Given the description of an element on the screen output the (x, y) to click on. 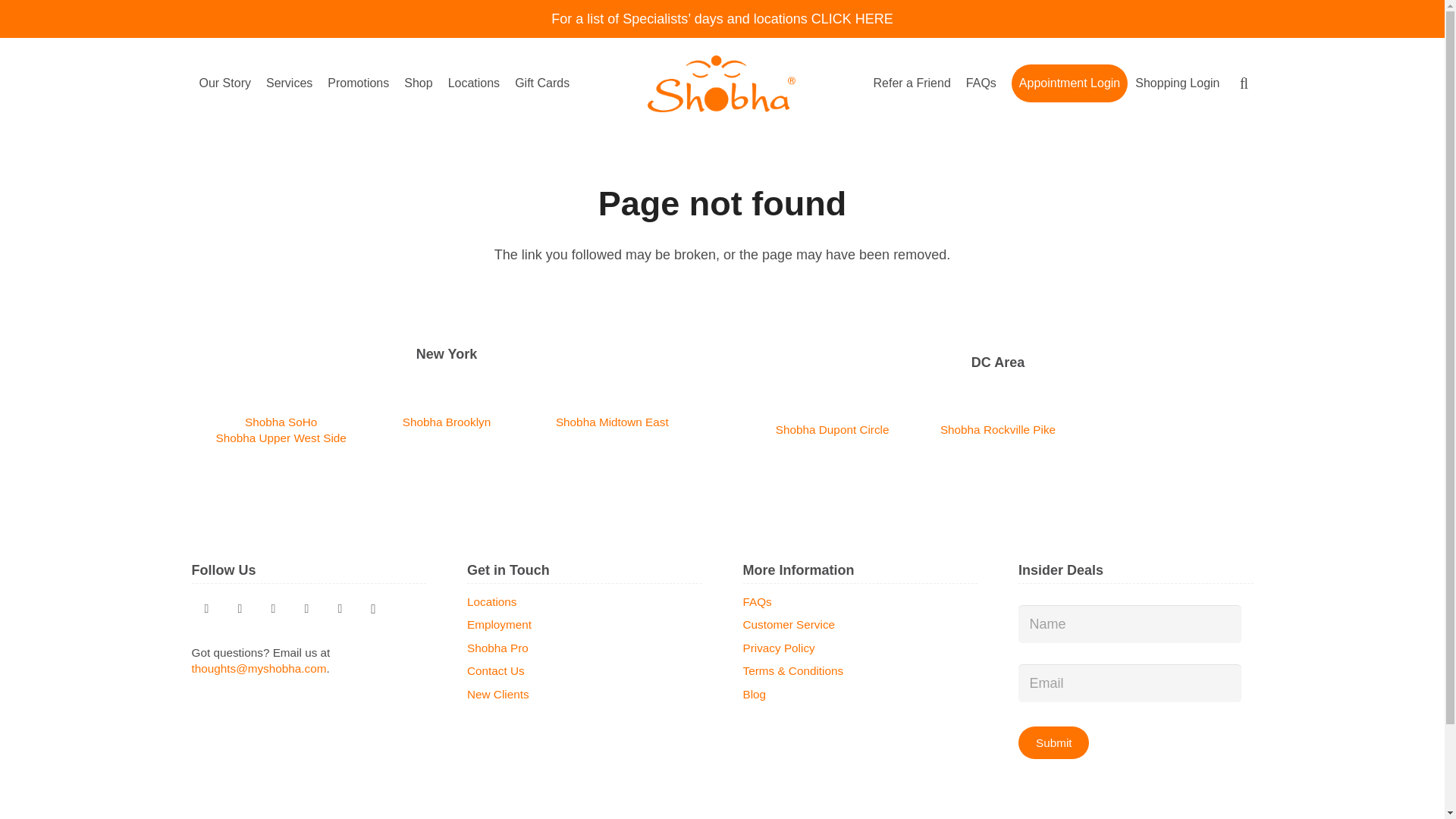
Facebook (339, 608)
YouTube (306, 608)
Twitter (205, 608)
Submit (1053, 742)
FAQs (981, 83)
Blog (272, 608)
Instagram (373, 608)
Shop (417, 83)
Refer a Friend (912, 83)
Gift Cards (541, 83)
